Given the description of an element on the screen output the (x, y) to click on. 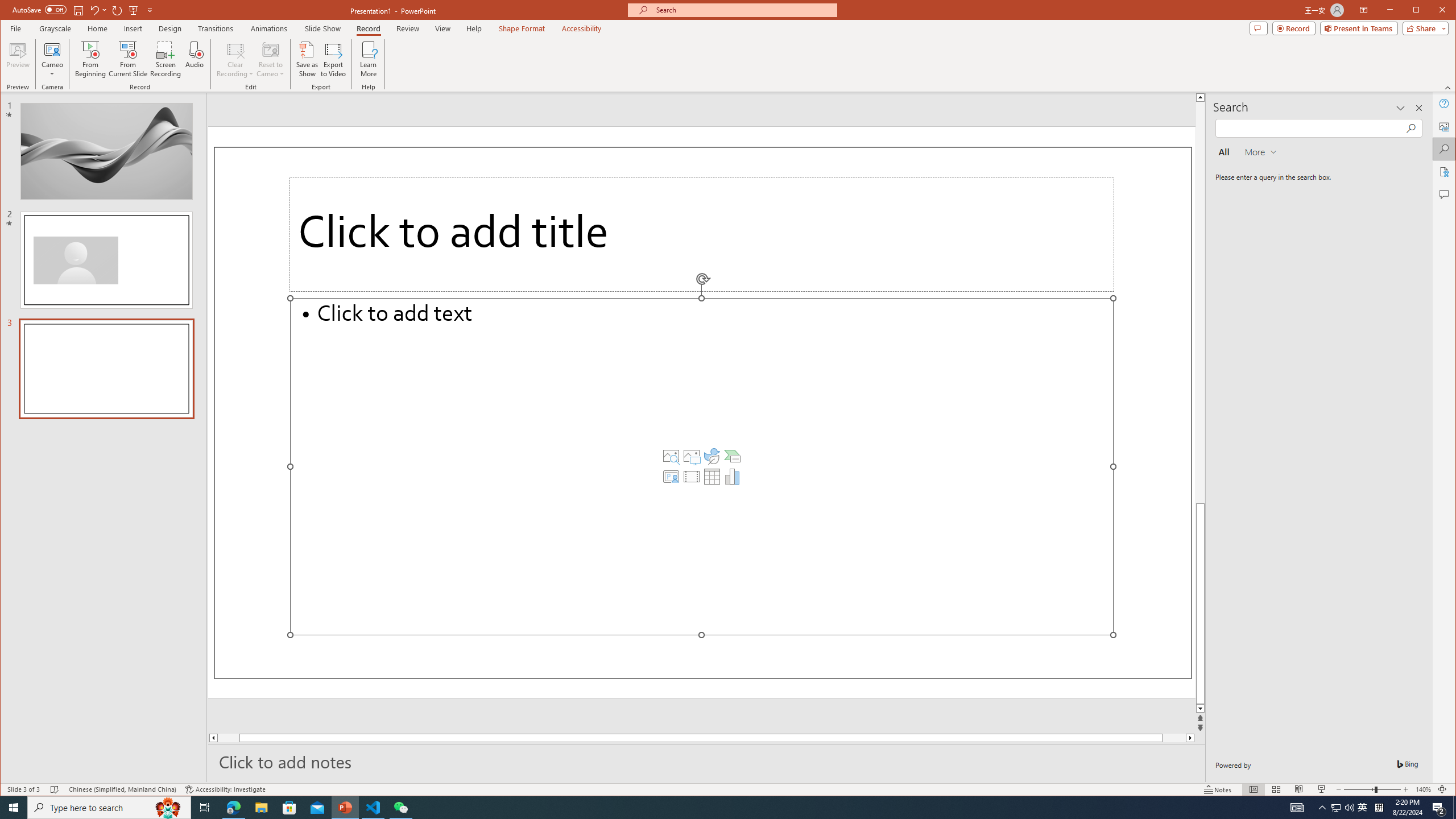
Running applications (707, 807)
Line up (1200, 96)
Reading View (1298, 789)
Q2790: 100% (1349, 807)
Slide Notes (706, 761)
Audio (194, 59)
Start (13, 807)
Cameo (52, 59)
Slide (106, 368)
Microsoft Store (289, 807)
Preview (17, 59)
Home (97, 28)
Accessibility Checker Accessibility: Investigate (225, 789)
